Given the description of an element on the screen output the (x, y) to click on. 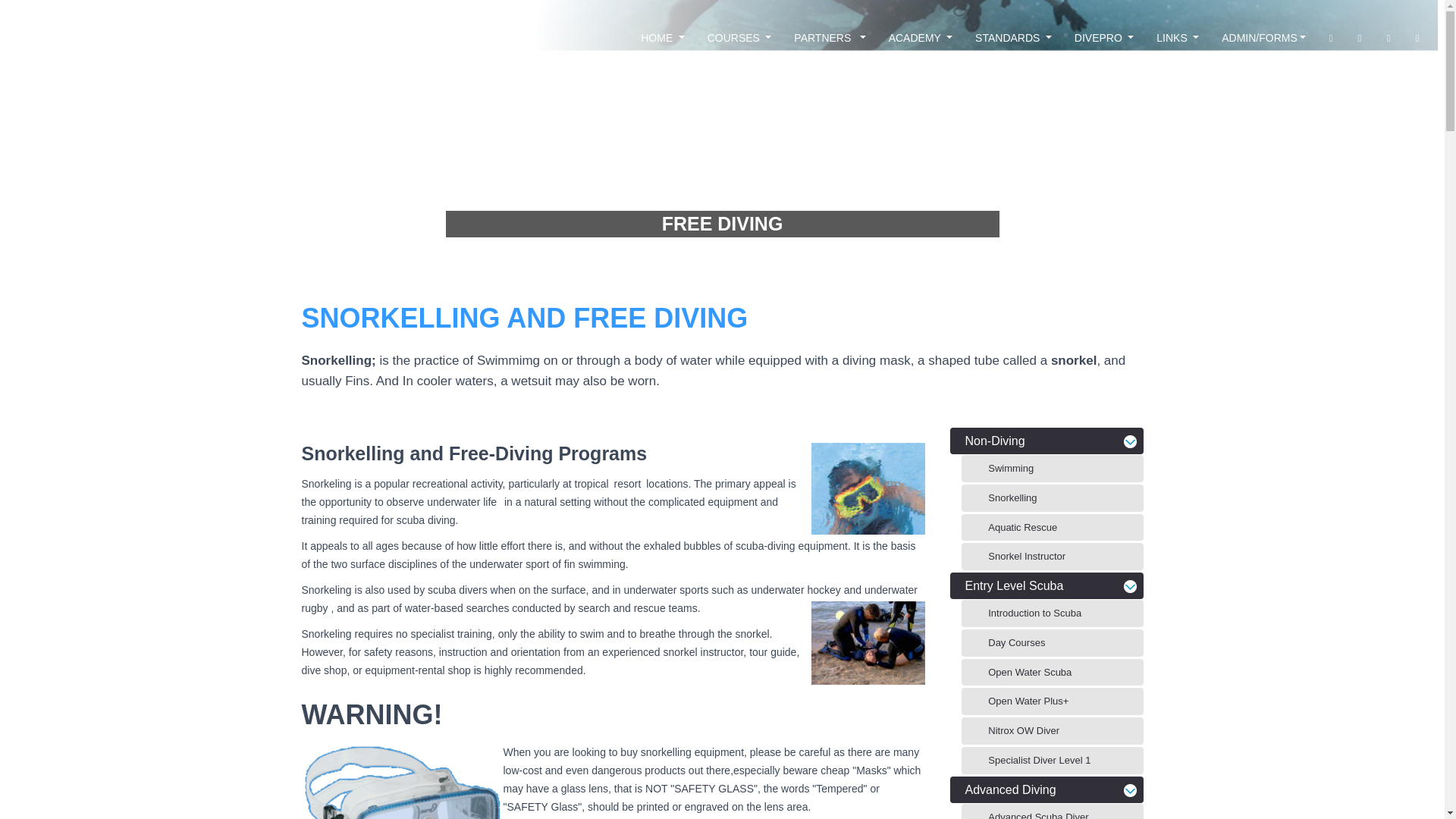
COURSES (739, 37)
HOME (661, 37)
PARTNERS  (829, 37)
diveitda.com (85, 37)
